Given the description of an element on the screen output the (x, y) to click on. 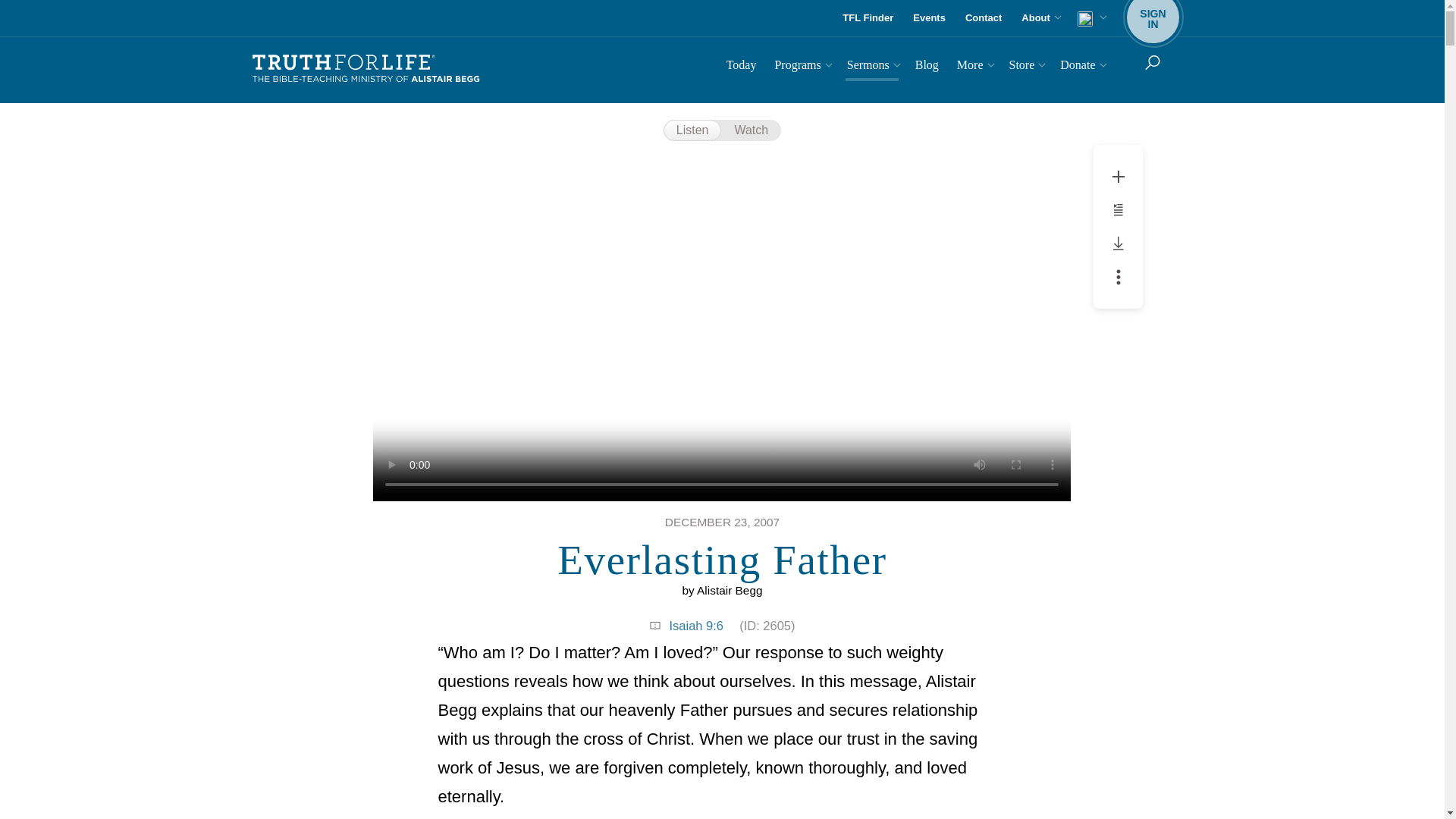
More Options (1118, 276)
Add to Listen Queue (1117, 209)
Add to My Library (1118, 176)
Today (741, 66)
Listen Queue (1118, 209)
Events (929, 18)
Programs (801, 66)
cart (1090, 18)
Download Free (1118, 243)
Contact (983, 18)
